Given the description of an element on the screen output the (x, y) to click on. 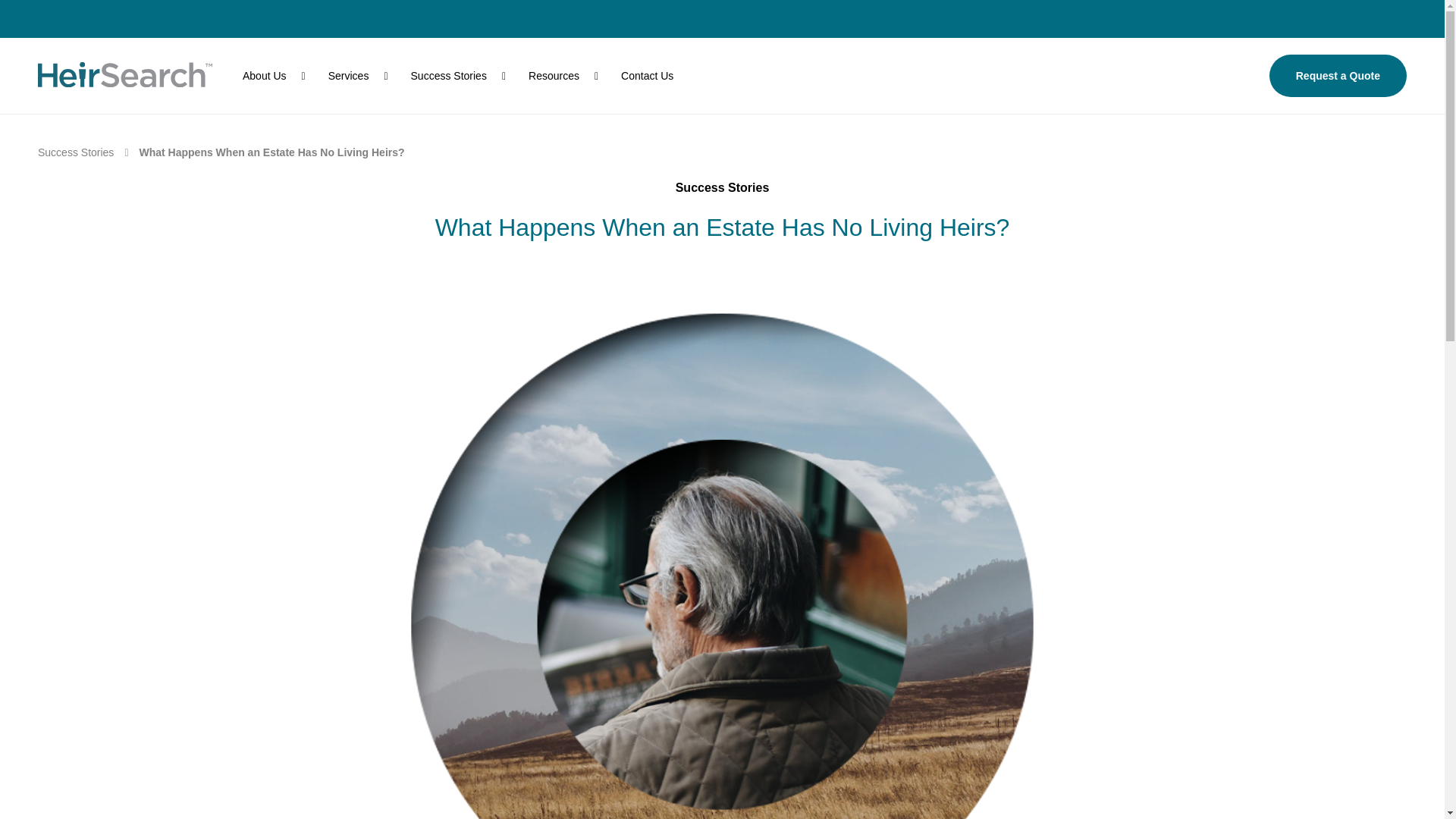
Contact Us (646, 75)
Resources (563, 75)
Case Studies (75, 152)
Request a Quote (1337, 75)
Services (358, 75)
About Us (274, 75)
What Happens When an Estate Has No Living Heirs? (271, 152)
Success Stories (75, 152)
Success Stories (458, 75)
